Given the description of an element on the screen output the (x, y) to click on. 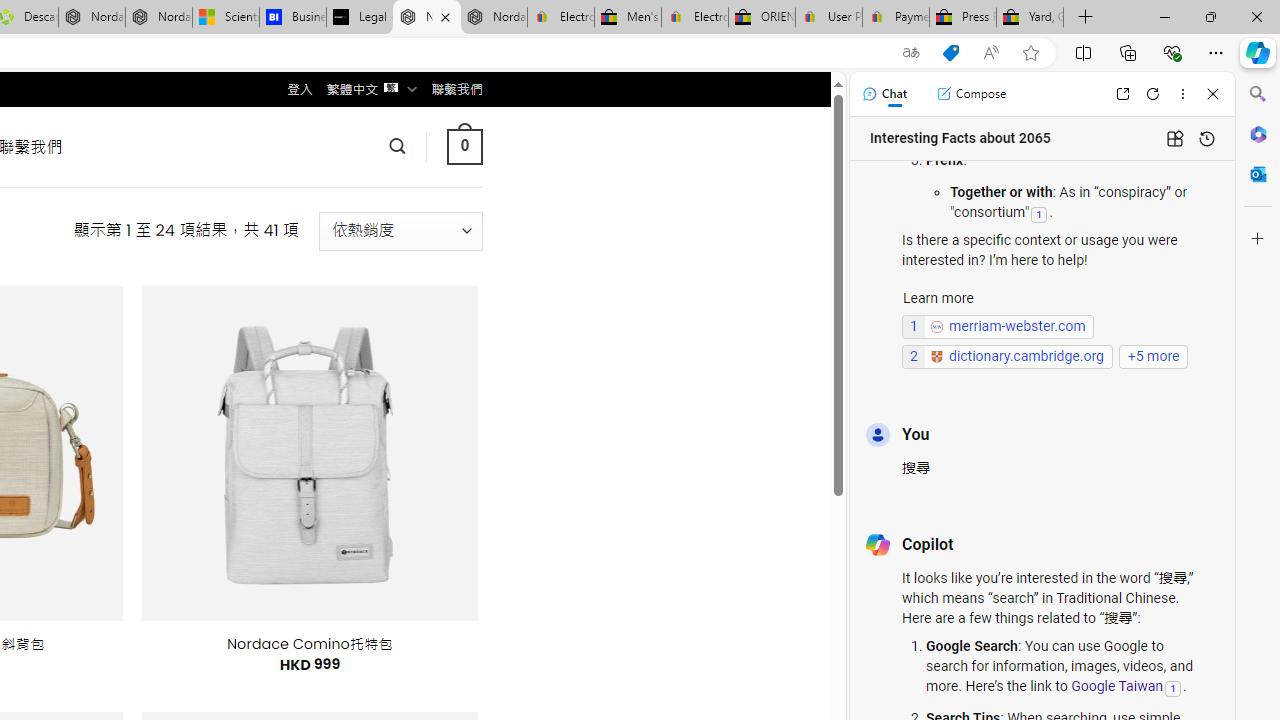
User Privacy Notice | eBay (828, 17)
Compose (971, 93)
